Given the description of an element on the screen output the (x, y) to click on. 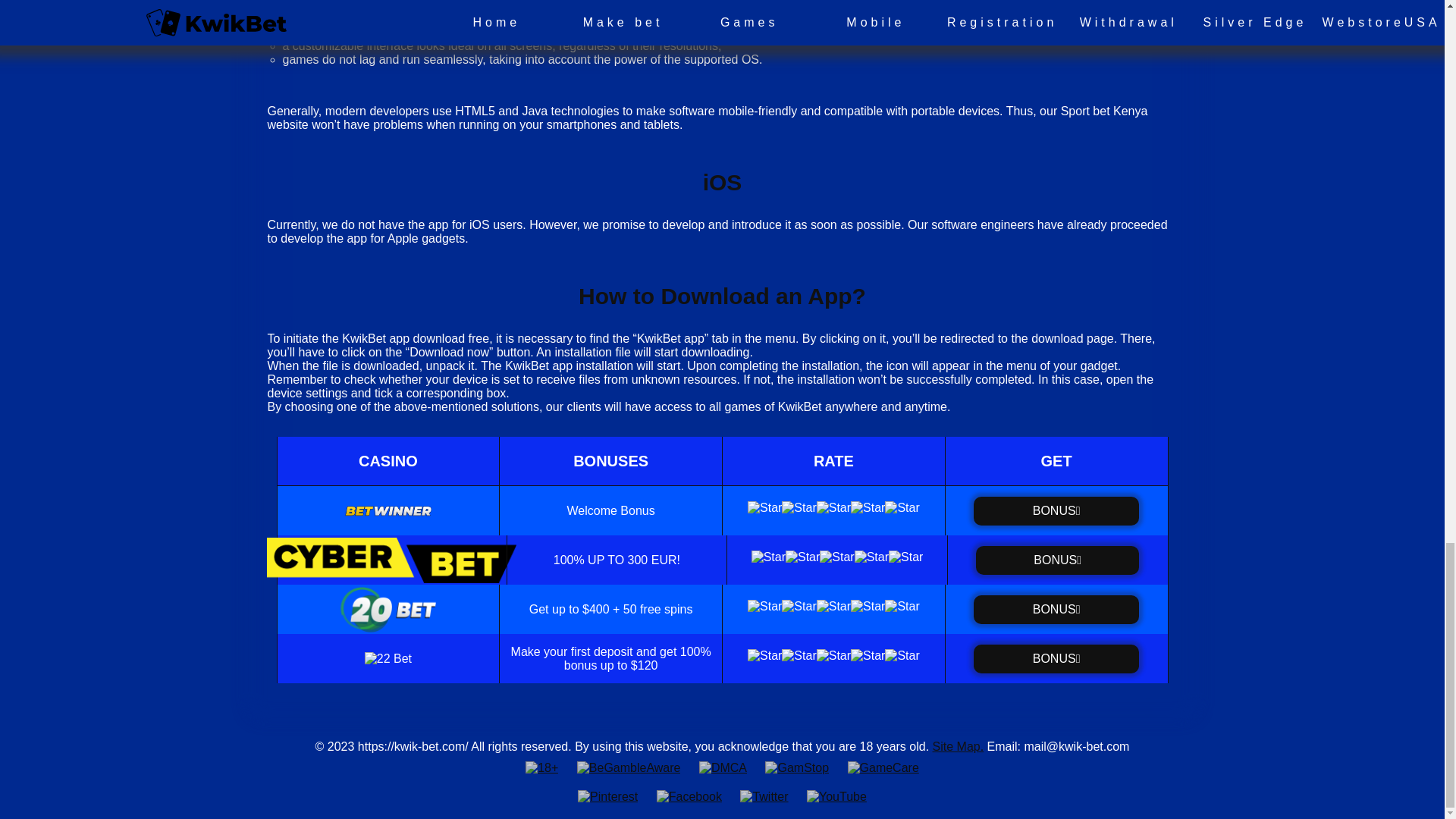
22Bet (1056, 657)
Cyber Bet (1056, 559)
Site Map. (958, 746)
BeGambleAware (628, 767)
DMCA (722, 767)
Betwinner Logo (1056, 510)
GamStop (796, 767)
20Bet (1056, 609)
